Given the description of an element on the screen output the (x, y) to click on. 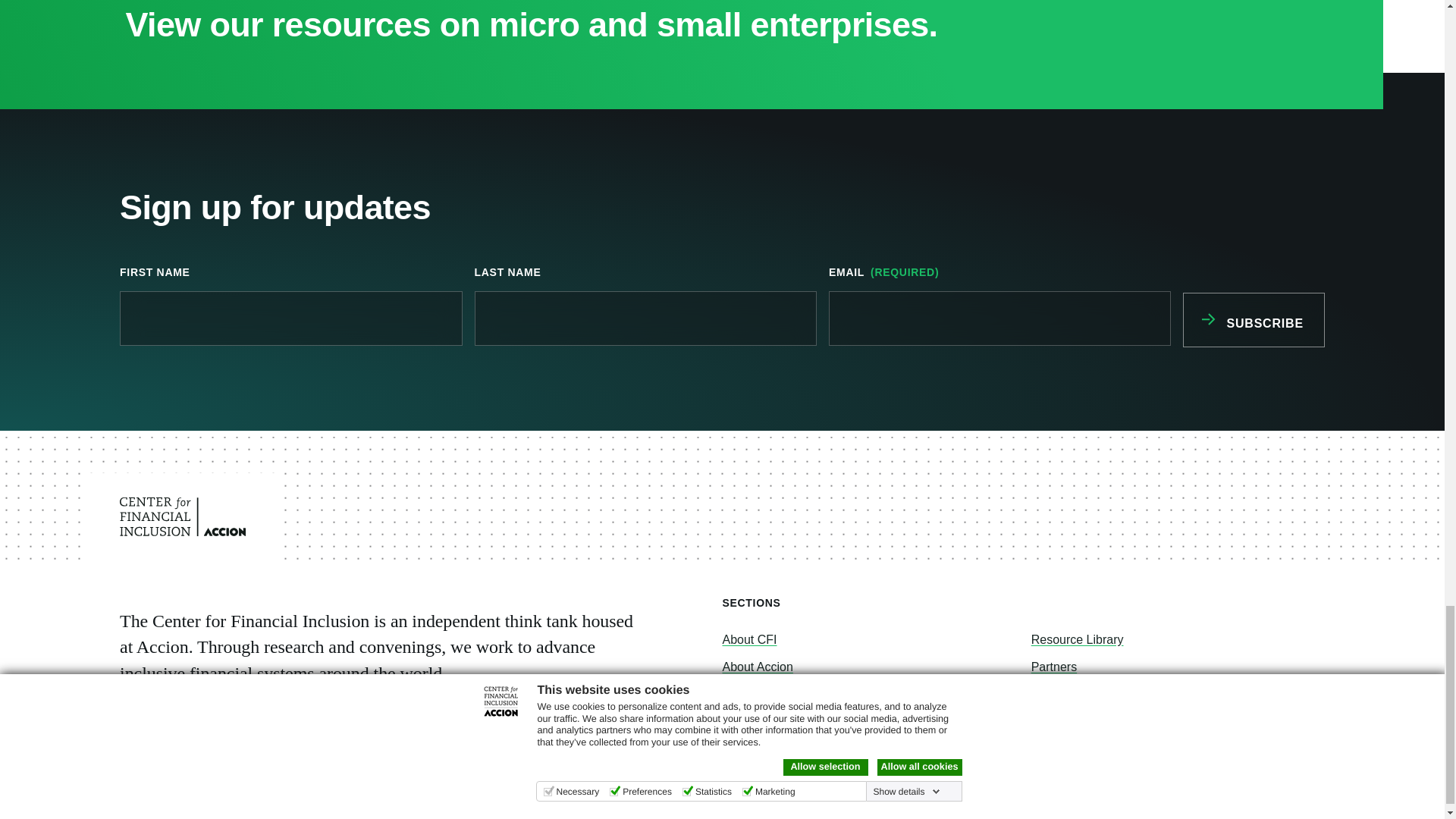
YouTube (259, 800)
Center for Financial Inclusion (182, 516)
subscribe (1252, 319)
LinkedIn (187, 800)
